Given the description of an element on the screen output the (x, y) to click on. 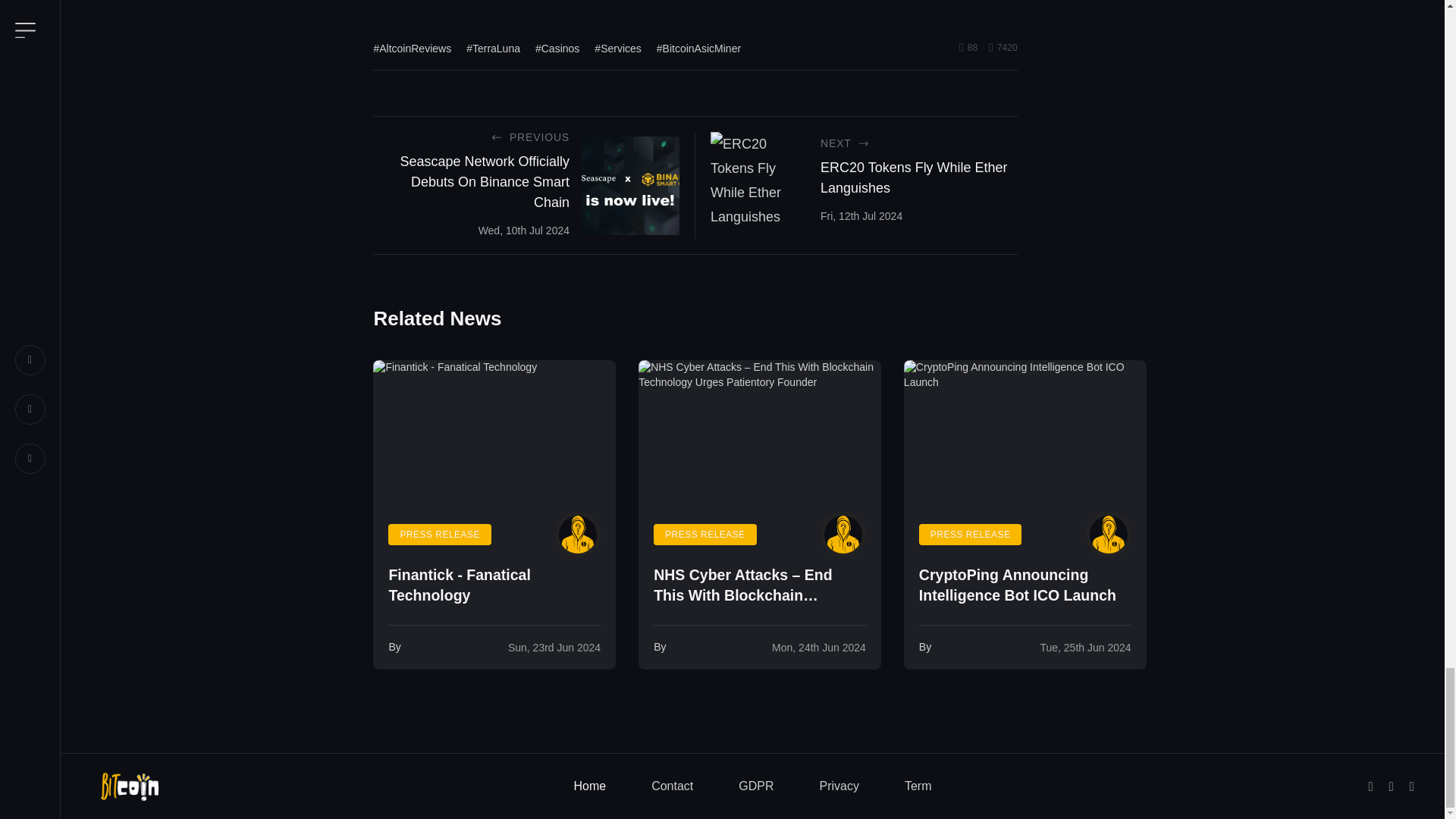
Fri, 14th Jun 2024 (818, 647)
Posts by  (843, 534)
Posts by  (1108, 534)
Wed, 10th Jul 2024 (524, 230)
Fri, 28th Jun 2024 (553, 647)
Fri, 12th Jul 2024 (861, 215)
Posts by  (576, 534)
